Given the description of an element on the screen output the (x, y) to click on. 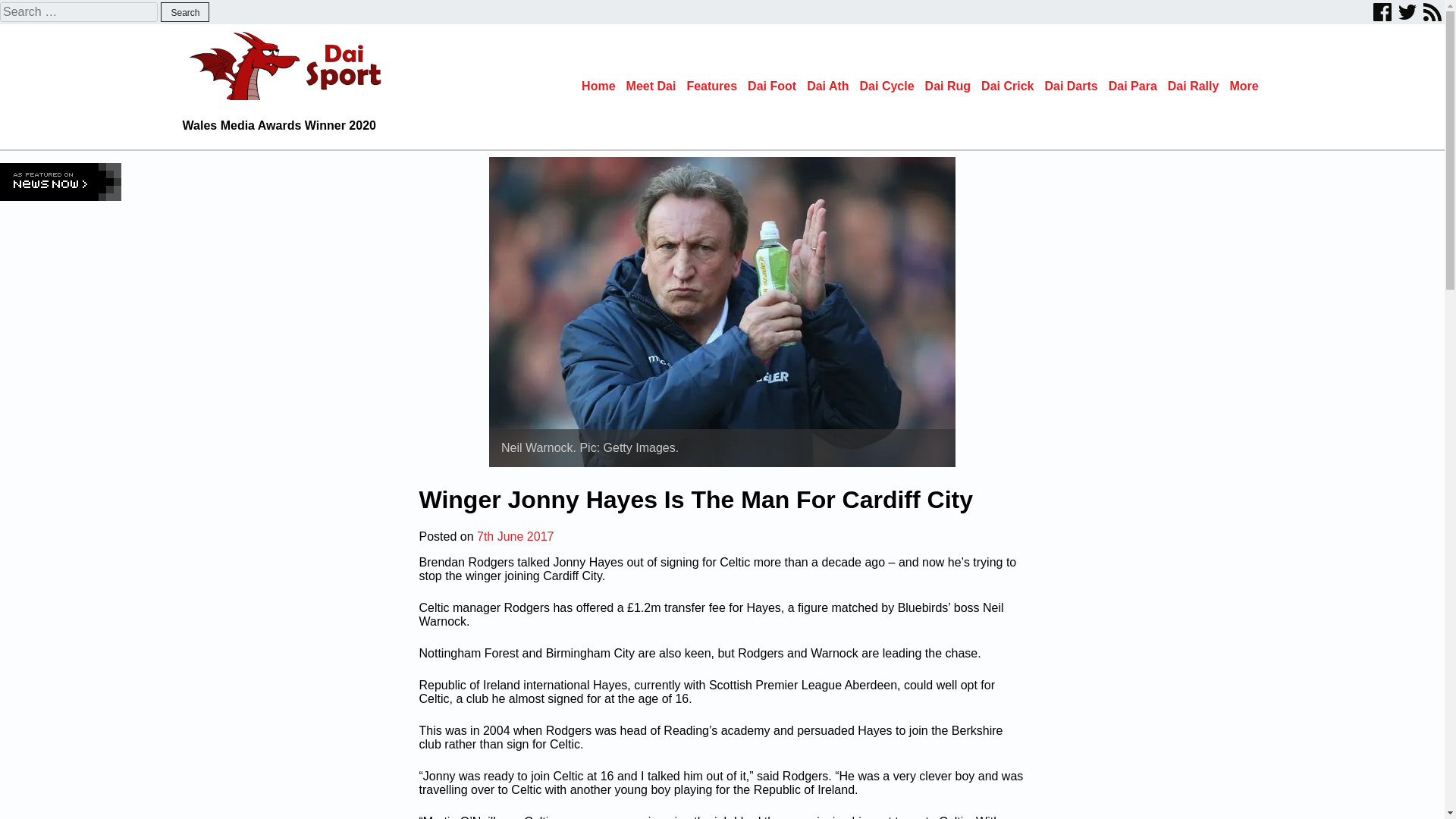
Search (184, 12)
Click here for more Welsh Sport news from NewsNow (60, 181)
Search (184, 12)
